Given the description of an element on the screen output the (x, y) to click on. 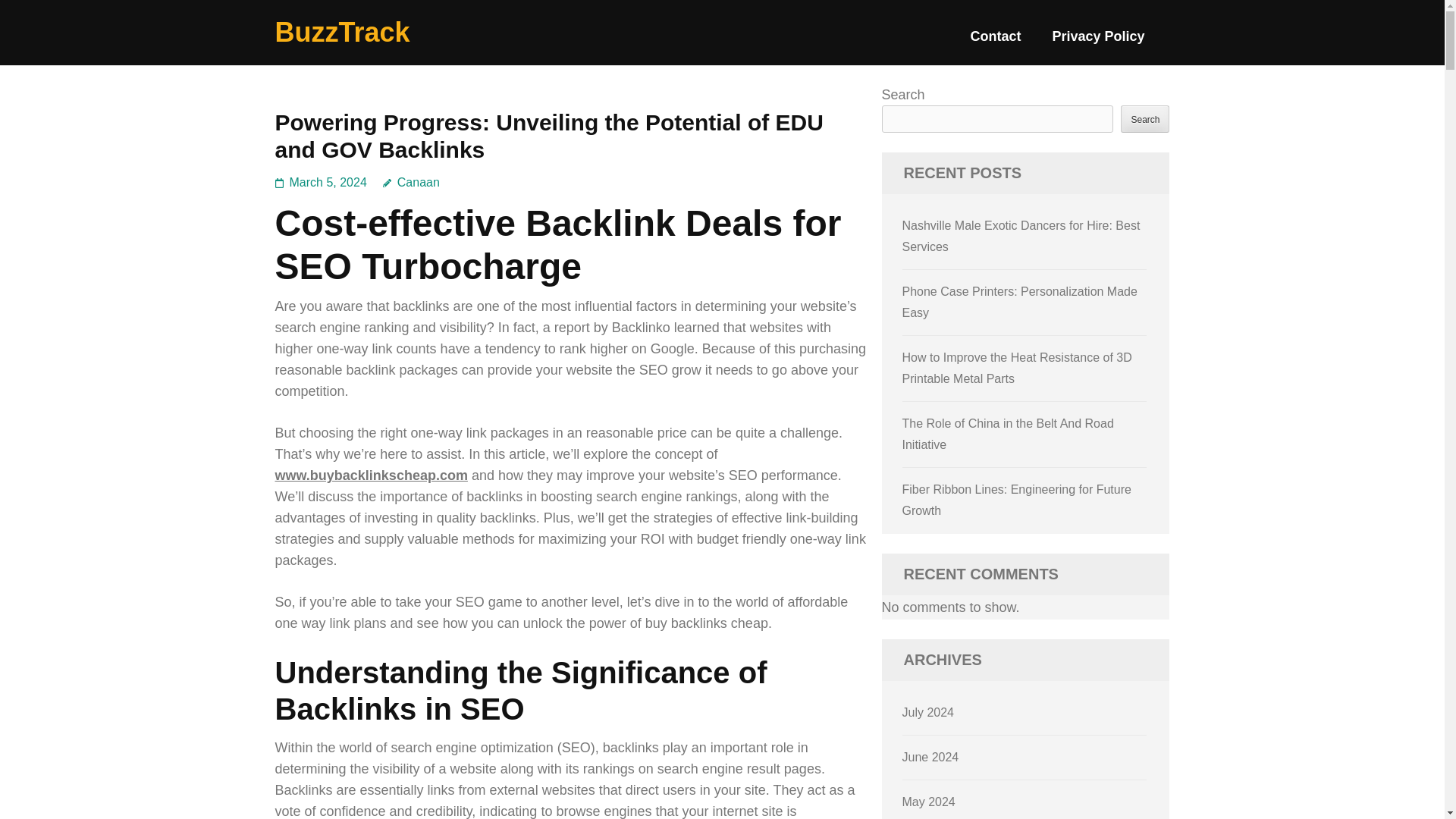
May 2024 (928, 801)
Fiber Ribbon Lines: Engineering for Future Growth (1016, 499)
March 5, 2024 (327, 182)
July 2024 (928, 712)
Search (1145, 118)
www.buybacklinkscheap.com (371, 475)
BuzzTrack (342, 31)
Nashville Male Exotic Dancers for Hire: Best Services (1021, 236)
June 2024 (930, 757)
Privacy Policy (1097, 42)
The Role of China in the Belt And Road Initiative (1007, 433)
Contact (994, 42)
Phone Case Printers: Personalization Made Easy (1019, 302)
Canaan (410, 182)
